Given the description of an element on the screen output the (x, y) to click on. 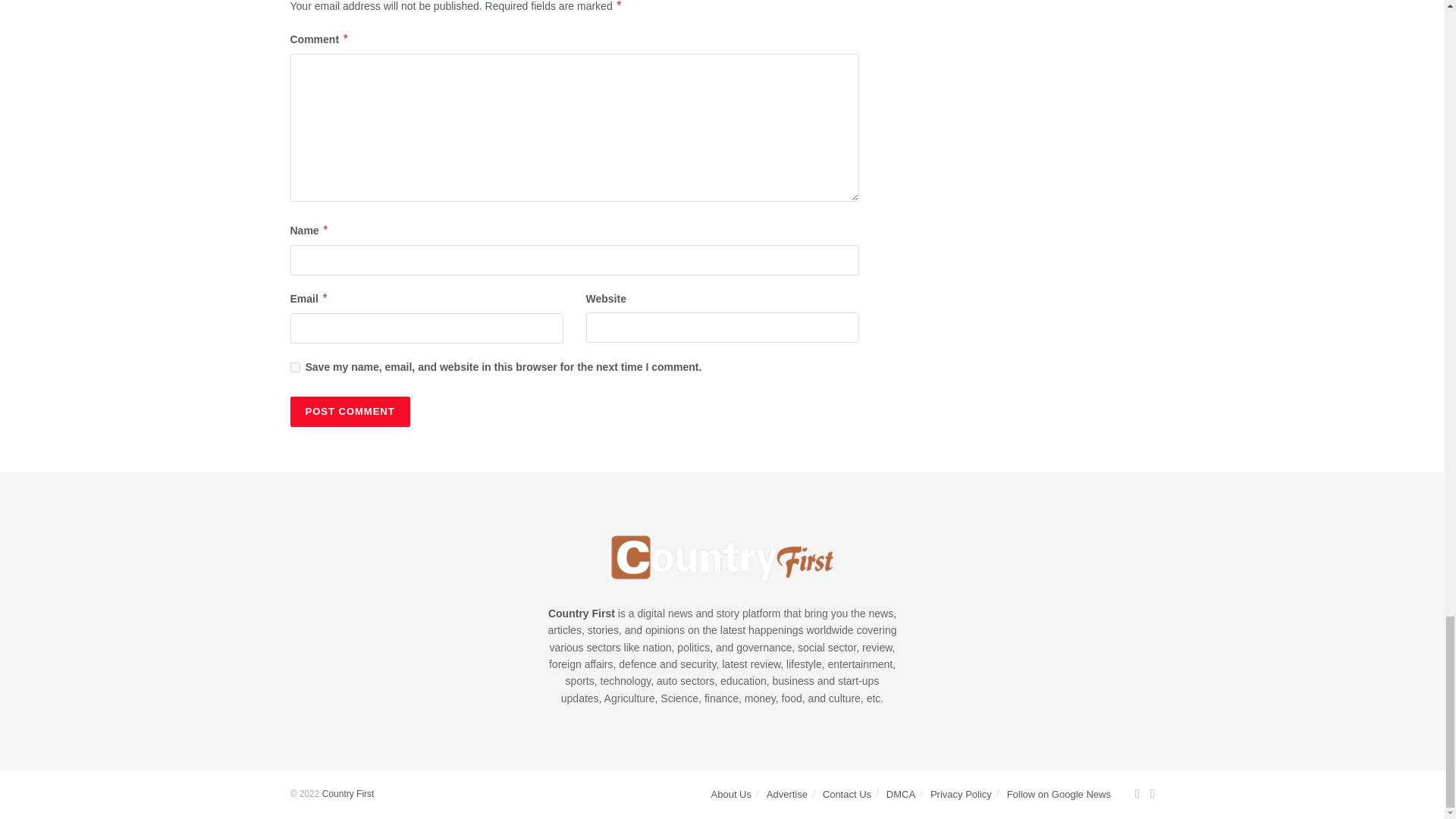
yes (294, 367)
Country First (347, 793)
Post Comment (349, 411)
